Given the description of an element on the screen output the (x, y) to click on. 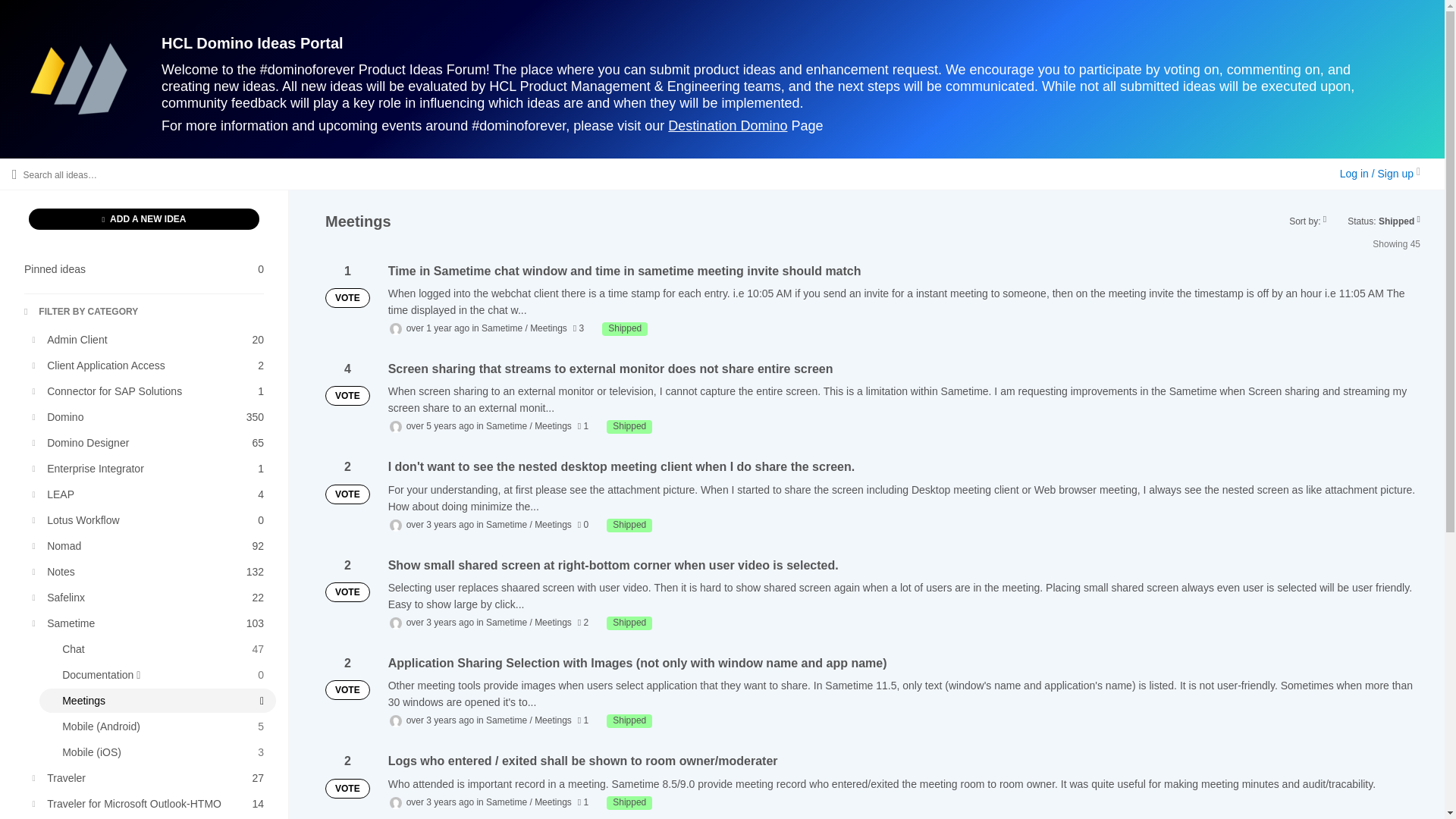
Shipped (143, 269)
Shipped (150, 416)
Shipped (150, 519)
ADD A NEW IDEA (624, 328)
Shipped (629, 721)
Destination Domino (629, 802)
Shipped (144, 219)
